Given the description of an element on the screen output the (x, y) to click on. 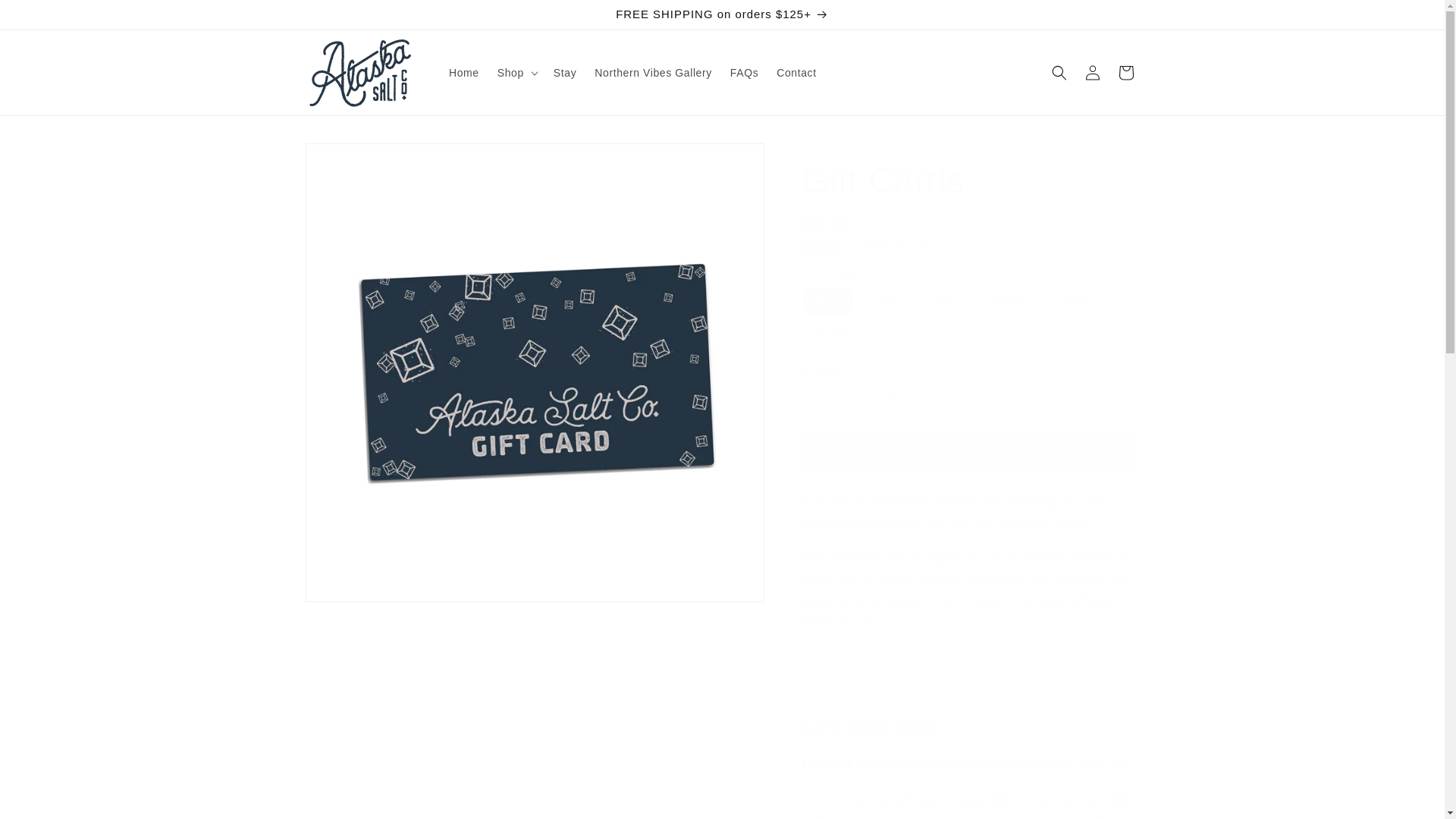
FAQs (743, 72)
Contact (796, 72)
Skip to content (46, 18)
Stay (564, 72)
1 (856, 398)
Home (463, 72)
Northern Vibes Gallery (652, 72)
Cart (1124, 72)
Log in (1091, 72)
